Given the description of an element on the screen output the (x, y) to click on. 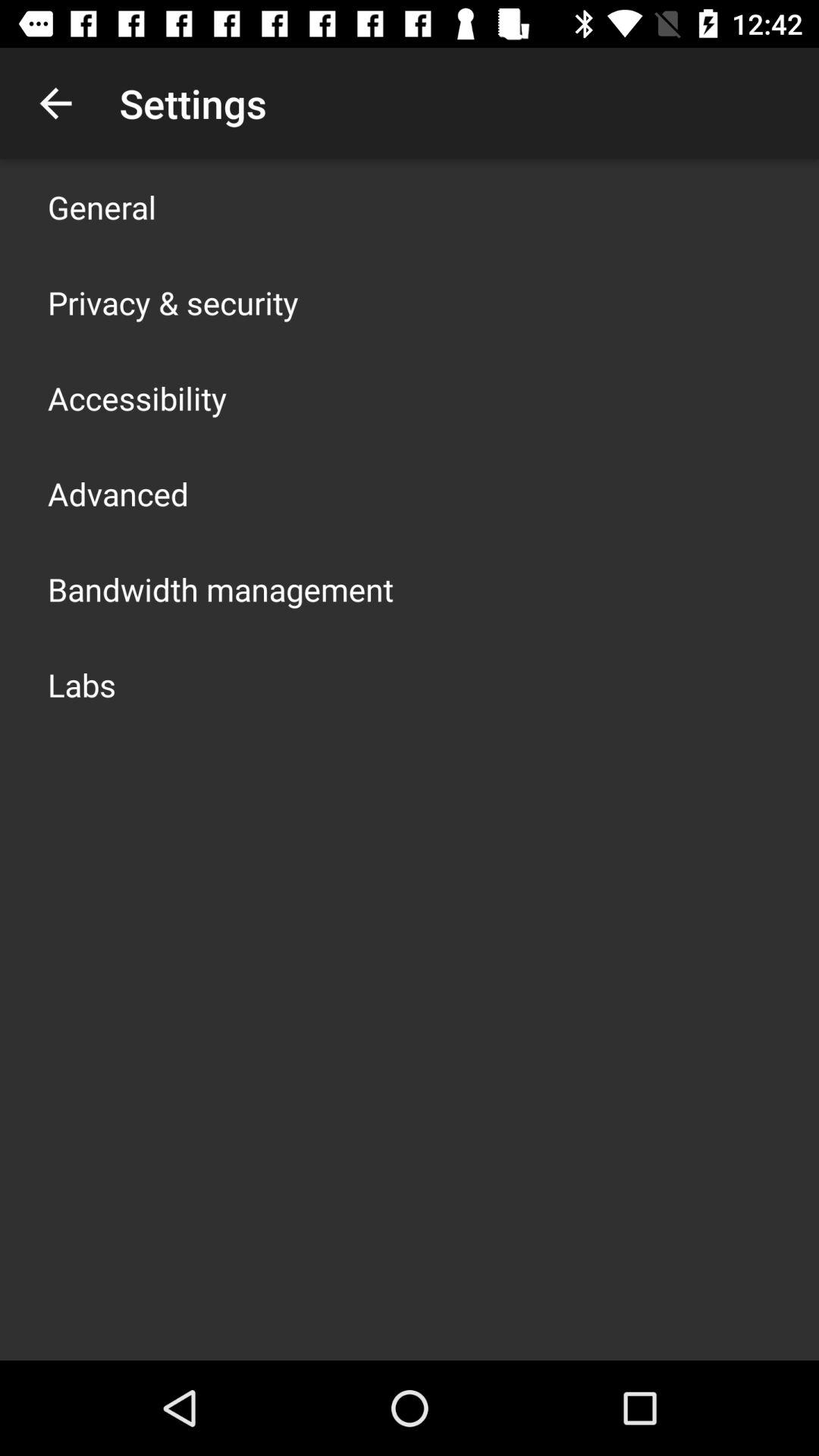
turn on icon above the general (55, 103)
